Given the description of an element on the screen output the (x, y) to click on. 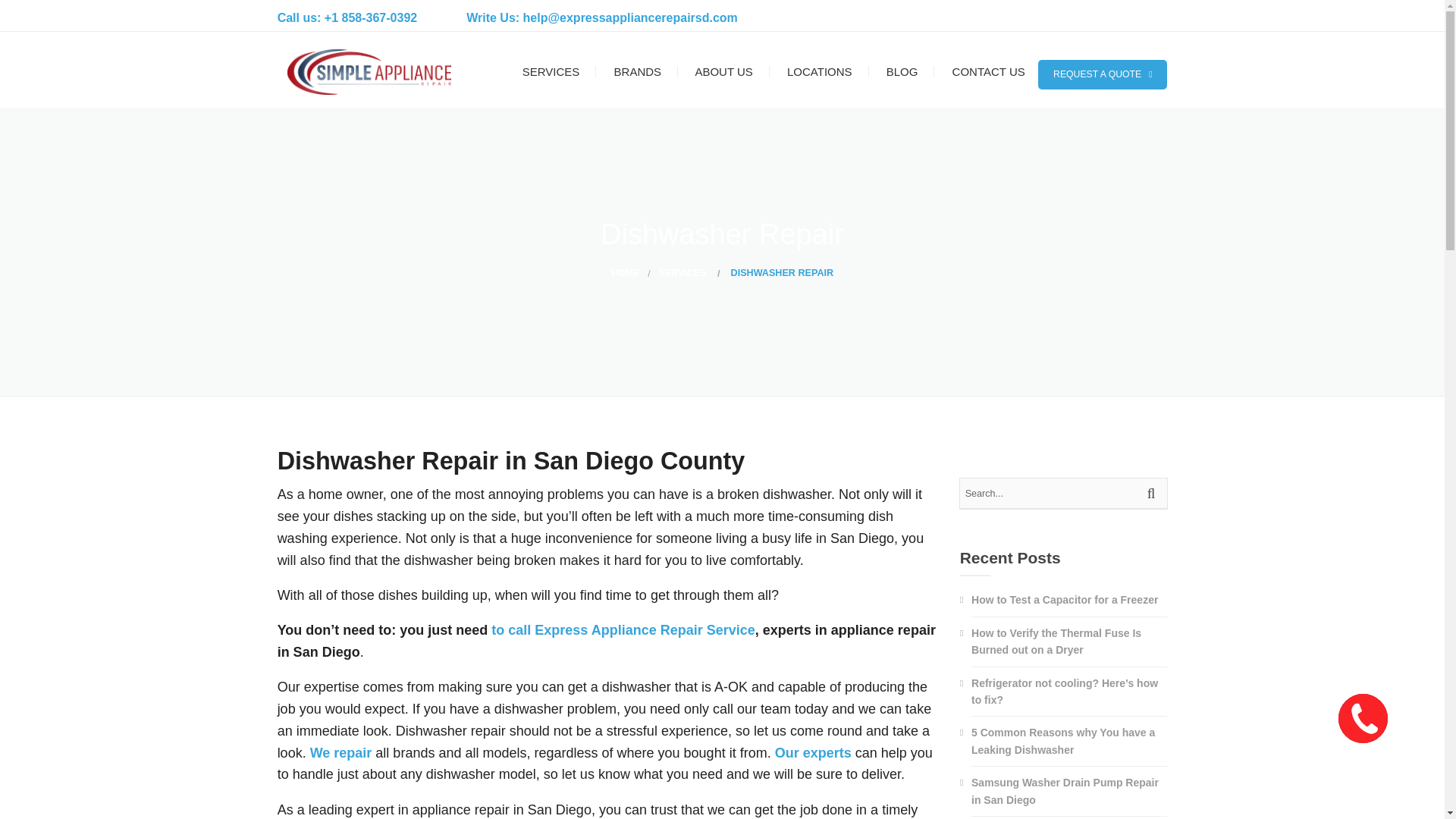
Freezer Repair (565, 231)
Contact Us (511, 630)
Dishwasher Repair (565, 160)
Dishwasher Repair (772, 273)
REQUEST A QUOTE (1102, 73)
Simple Appliance Repair Service in San Diego (369, 69)
Stove Repair (565, 409)
Dryer Repair (565, 195)
to call (511, 630)
Our experts (812, 752)
